Given the description of an element on the screen output the (x, y) to click on. 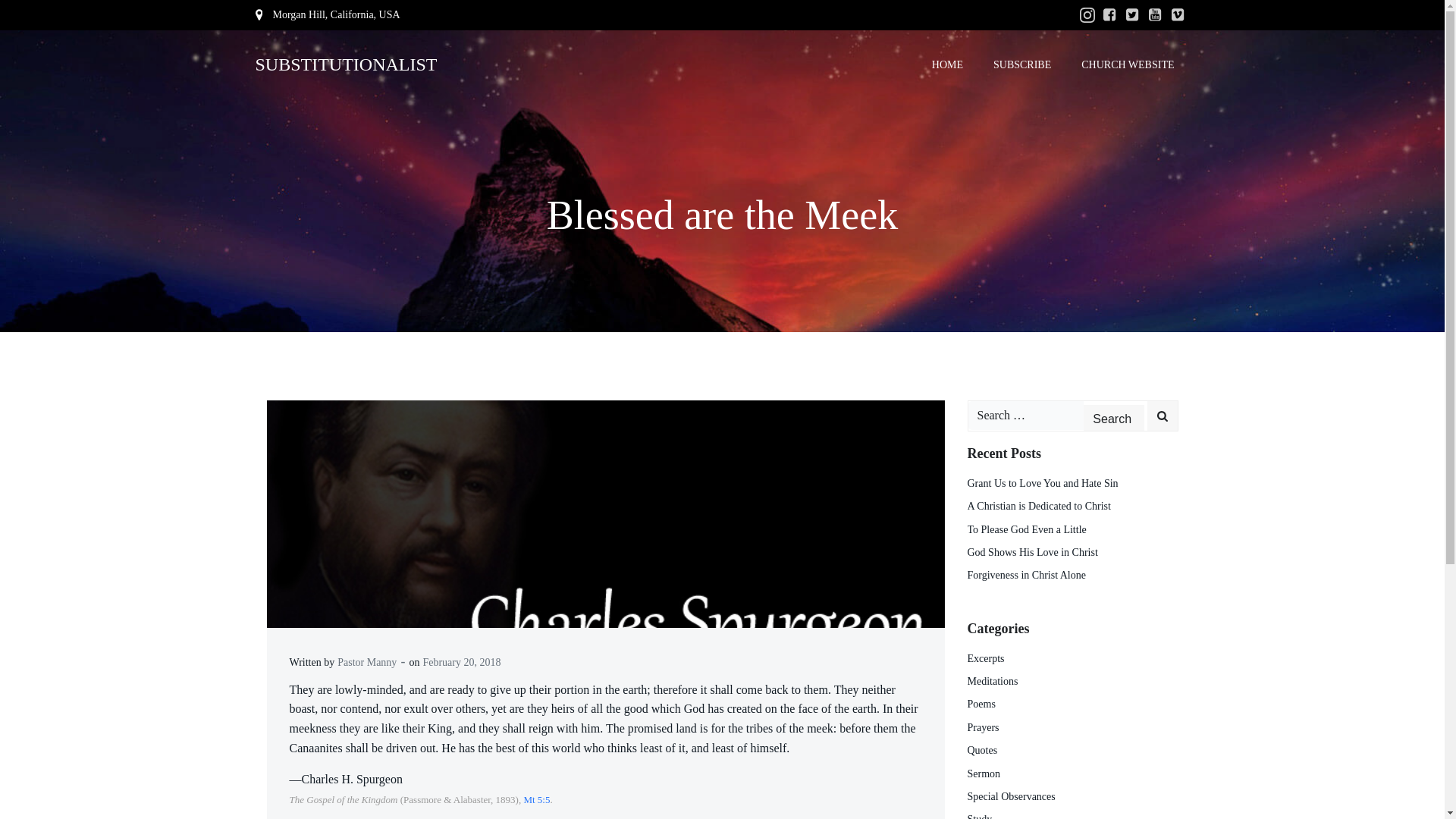
Sermon (984, 773)
Excerpts (986, 658)
Meditations (992, 681)
Poems (981, 704)
Quotes (982, 749)
Prayers (983, 727)
Search  (1112, 419)
SUBSTITUTIONALIST (345, 63)
CHURCH WEBSITE (1127, 64)
Forgiveness in Christ Alone (1027, 574)
Mt 5:5 (536, 799)
SUBSCRIBE (1021, 64)
Grant Us to Love You and Hate Sin (1043, 482)
Search  (1112, 419)
Morgan Hill, California, USA (326, 15)
